Given the description of an element on the screen output the (x, y) to click on. 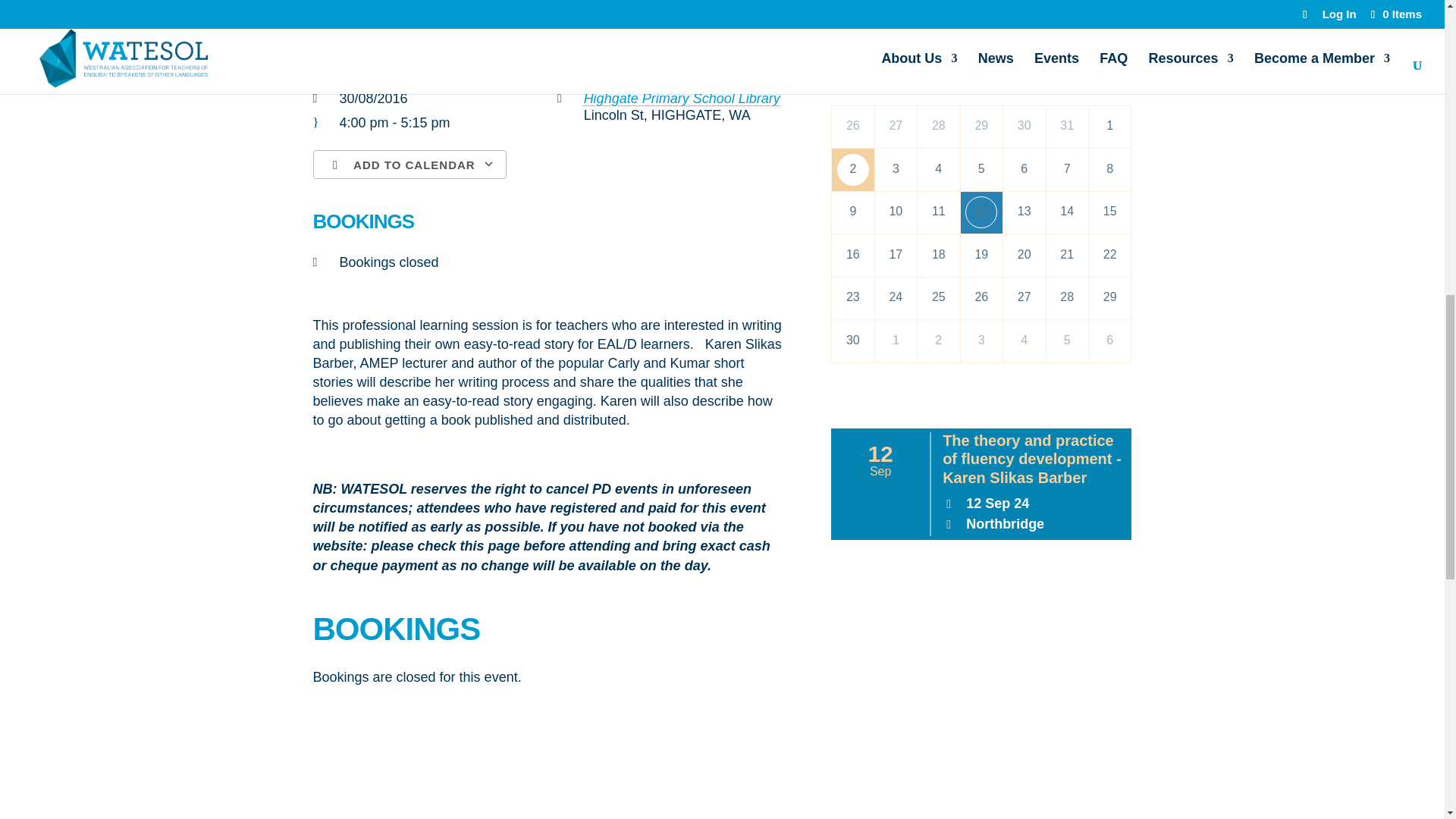
Download ICS (329, 192)
Highgate Primary School Library (681, 98)
2024-09 (888, 43)
12 (981, 212)
ADD TO CALENDAR (409, 164)
